Given the description of an element on the screen output the (x, y) to click on. 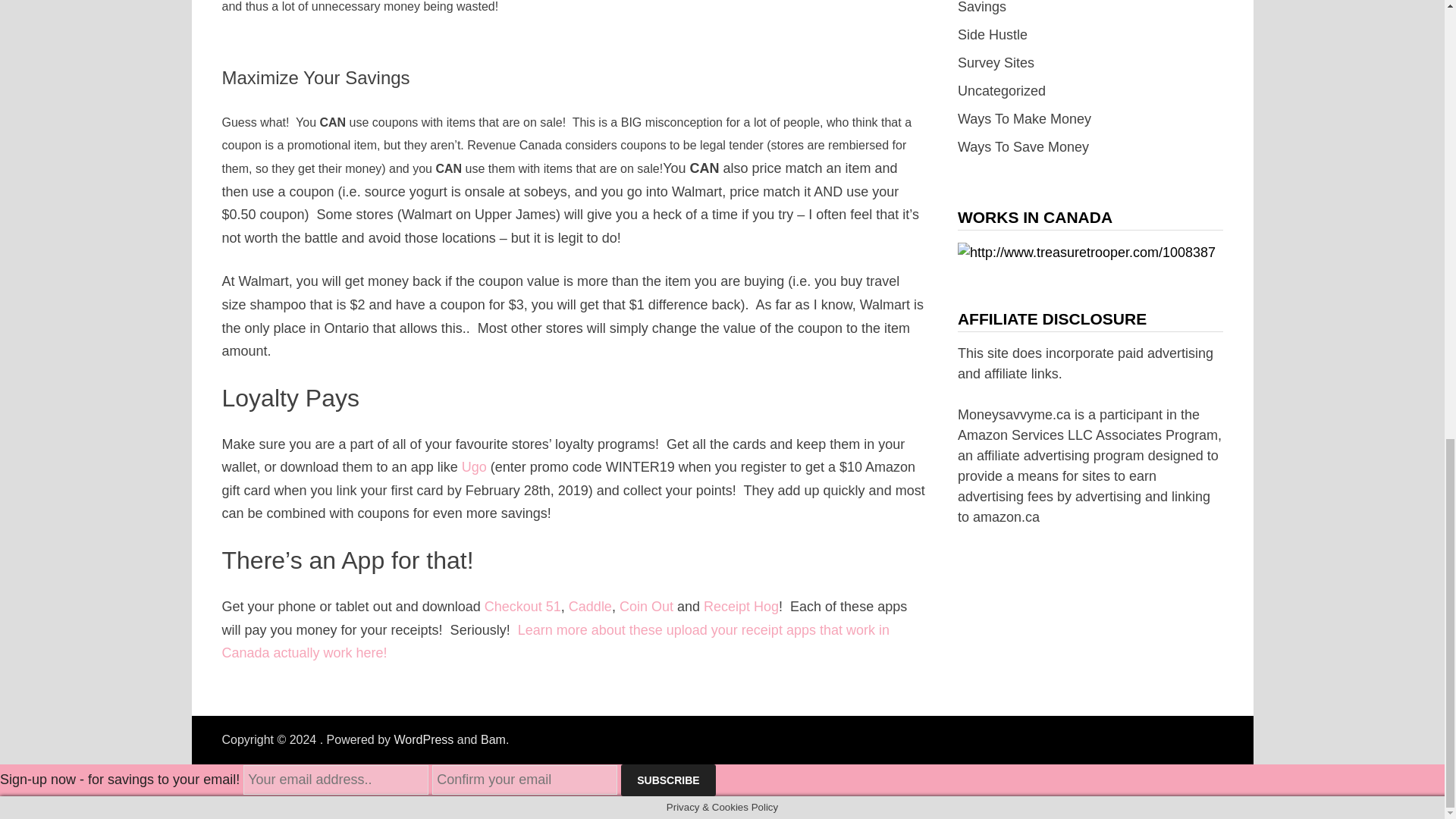
Caddle (590, 606)
Receipt Hog (740, 606)
Subscribe (667, 780)
Ugo (473, 467)
Coin Out (646, 606)
Checkout 51 (522, 606)
